Given the description of an element on the screen output the (x, y) to click on. 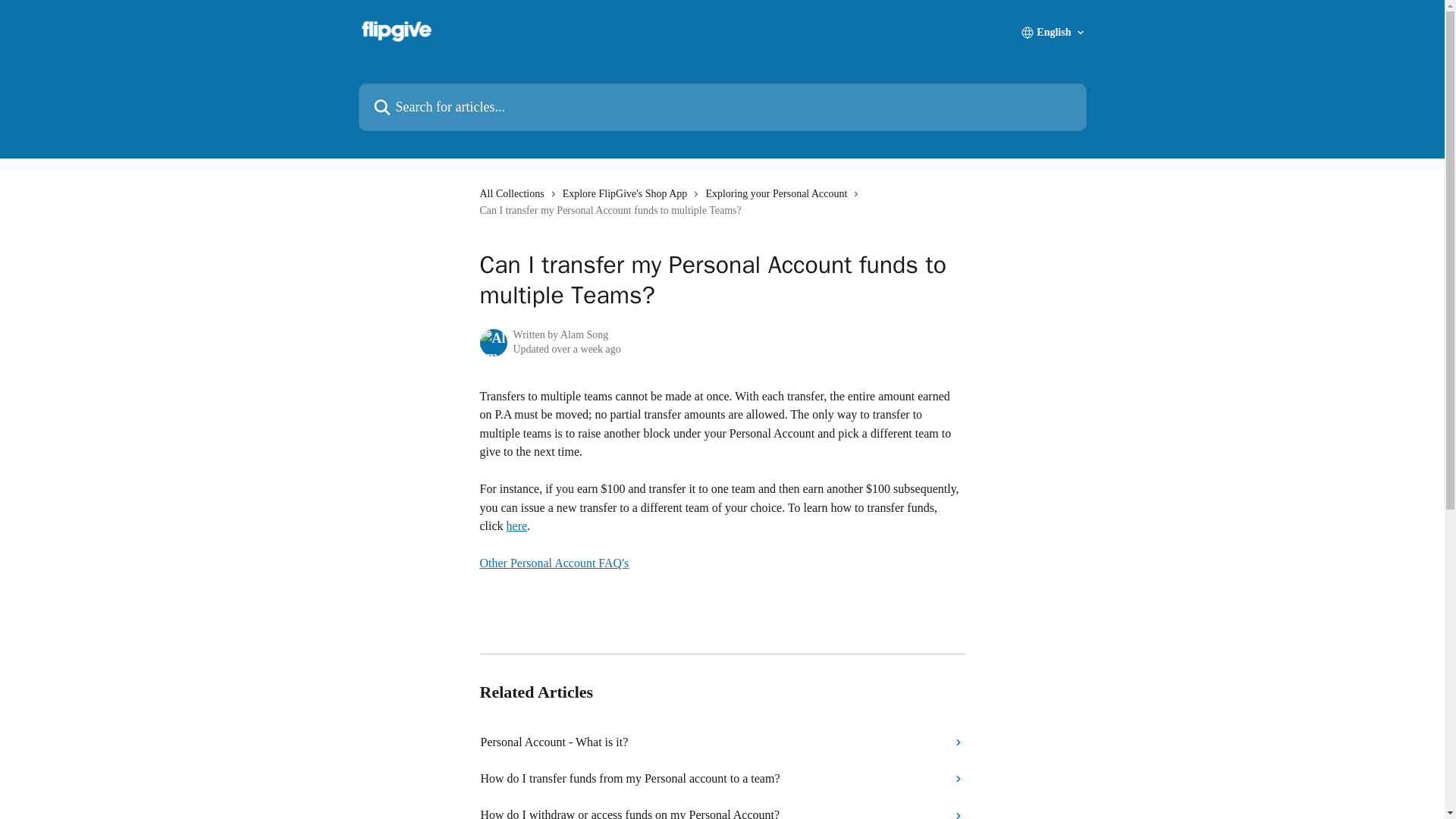
here (516, 525)
All Collections (514, 193)
Other Personal Account FAQ's (553, 572)
How do I transfer funds from my Personal account to a team? (722, 778)
How do I withdraw or access funds on my Personal Account? (722, 807)
Exploring your Personal Account (778, 193)
Personal Account - What is it? (722, 741)
Explore FlipGive's Shop App (628, 193)
